Given the description of an element on the screen output the (x, y) to click on. 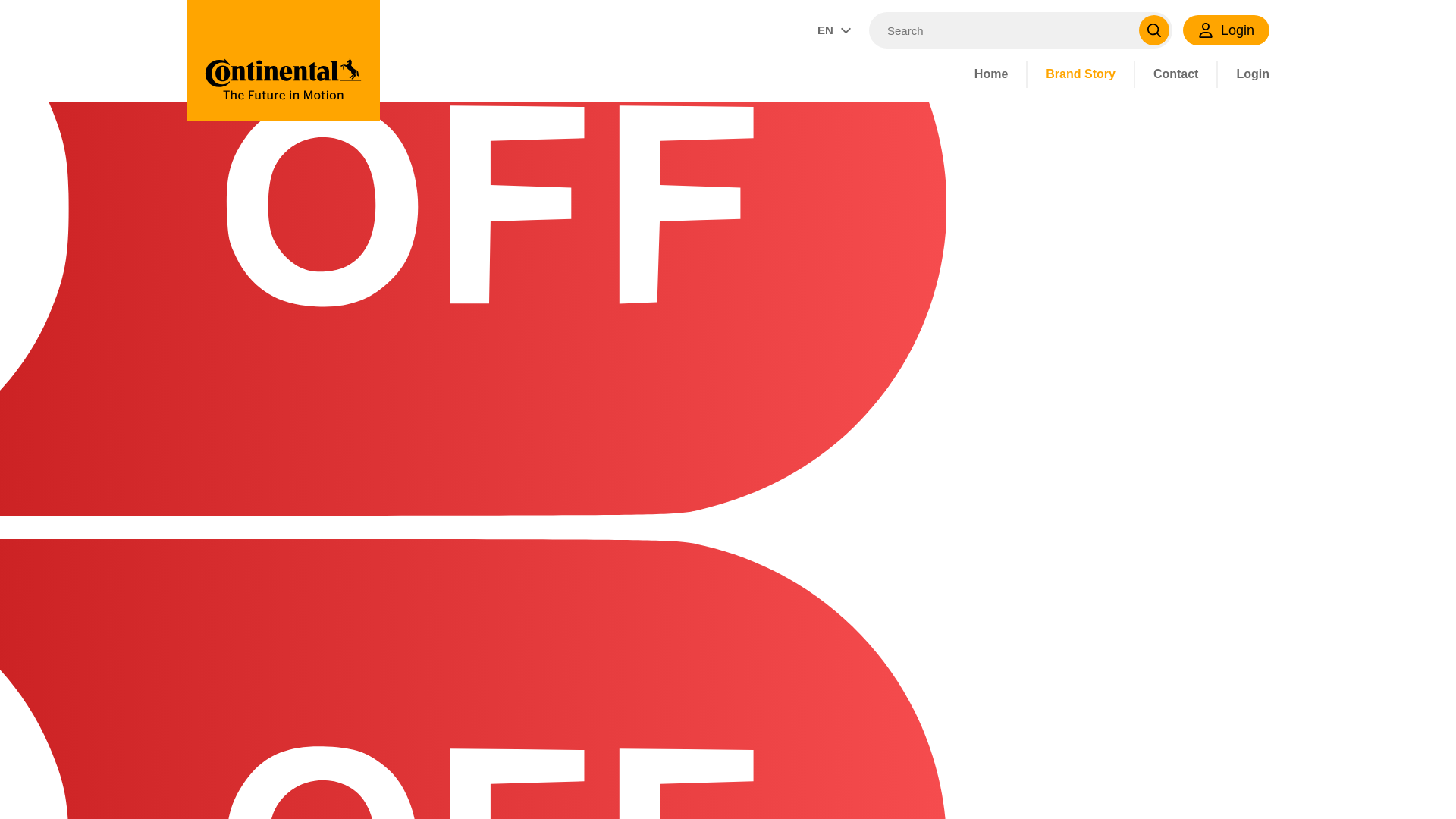
Brand Story (1080, 73)
Login (1243, 73)
Contact (1176, 73)
Continental AG (283, 60)
Brand Story (1080, 73)
Home (991, 73)
Login (1243, 73)
Contact (1176, 73)
Login (1225, 30)
EN (834, 30)
